Given the description of an element on the screen output the (x, y) to click on. 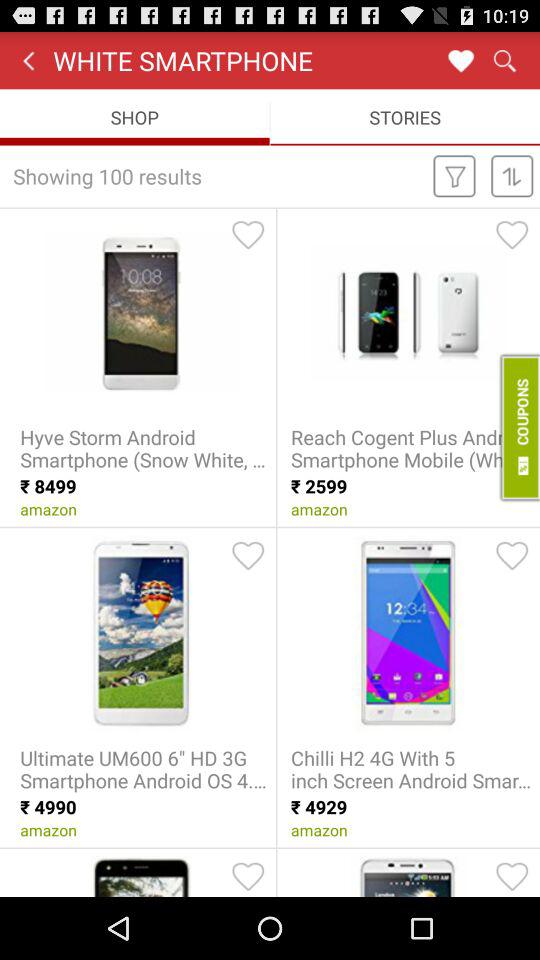
choose item to the right of shop icon (405, 116)
